Given the description of an element on the screen output the (x, y) to click on. 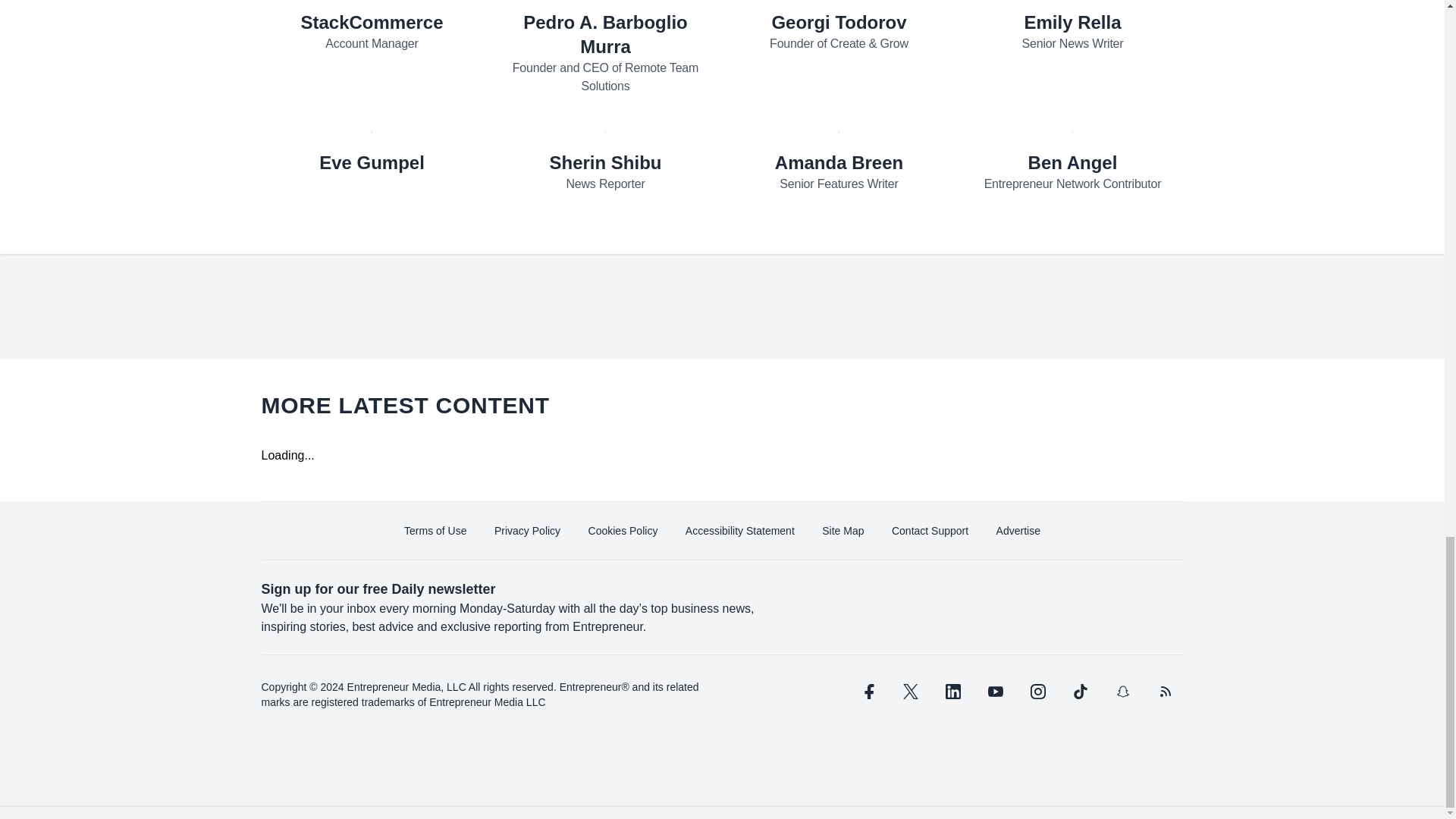
linkedin (952, 691)
twitter (909, 691)
youtube (994, 691)
instagram (1037, 691)
facebook (866, 691)
